Given the description of an element on the screen output the (x, y) to click on. 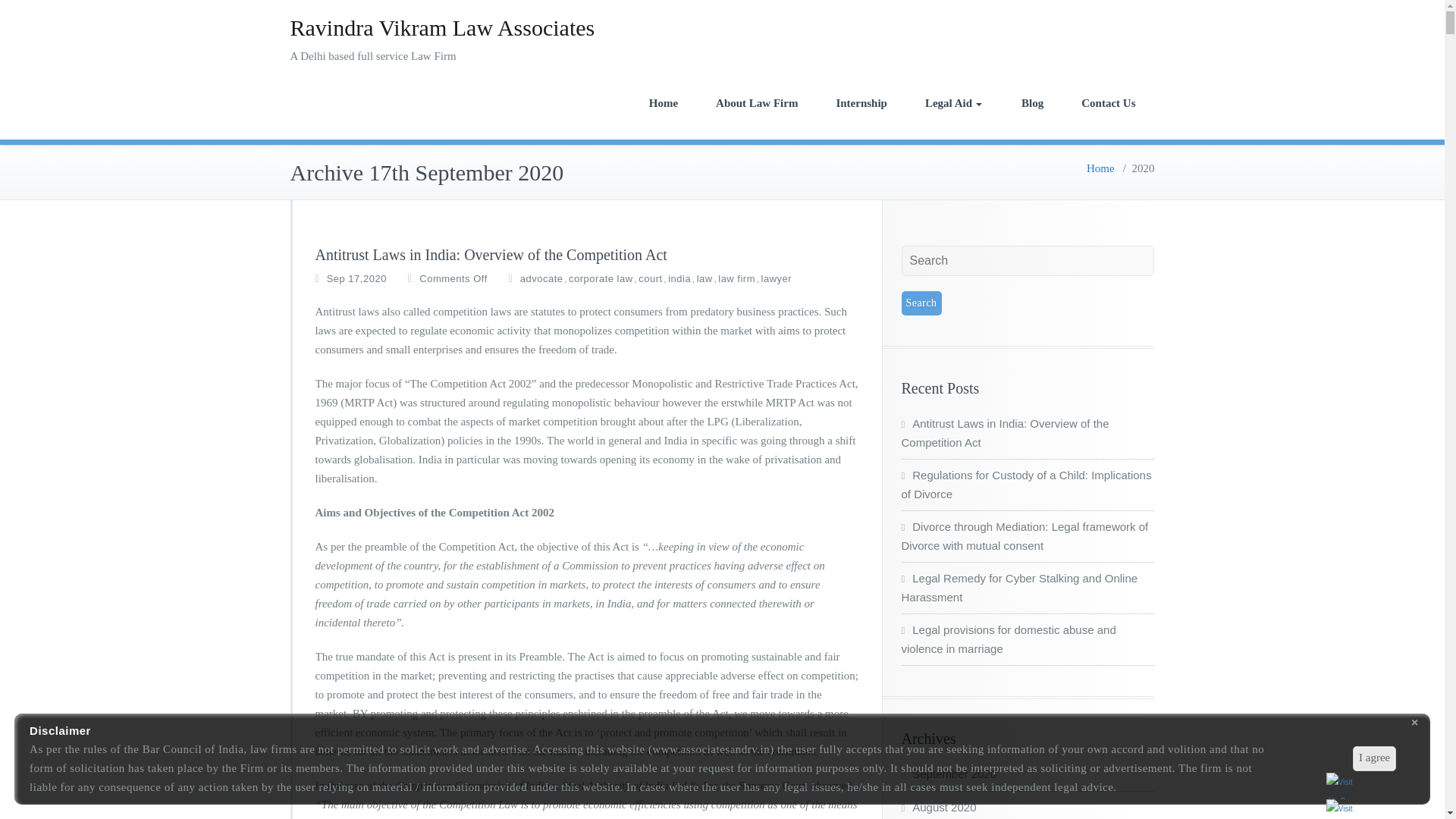
Search (920, 303)
Home (1100, 168)
Visit Us On Facebook (1338, 786)
Visit Us On Twitter (1338, 809)
Internship (860, 102)
corporate law (601, 278)
Sep 17,2020 (356, 278)
Antitrust Laws in India: Overview of the Competition Act (490, 254)
About Law Firm (756, 102)
Legal Aid (953, 102)
india (679, 278)
advocate (541, 278)
Home (663, 102)
lawyer (776, 278)
law (705, 278)
